Given the description of an element on the screen output the (x, y) to click on. 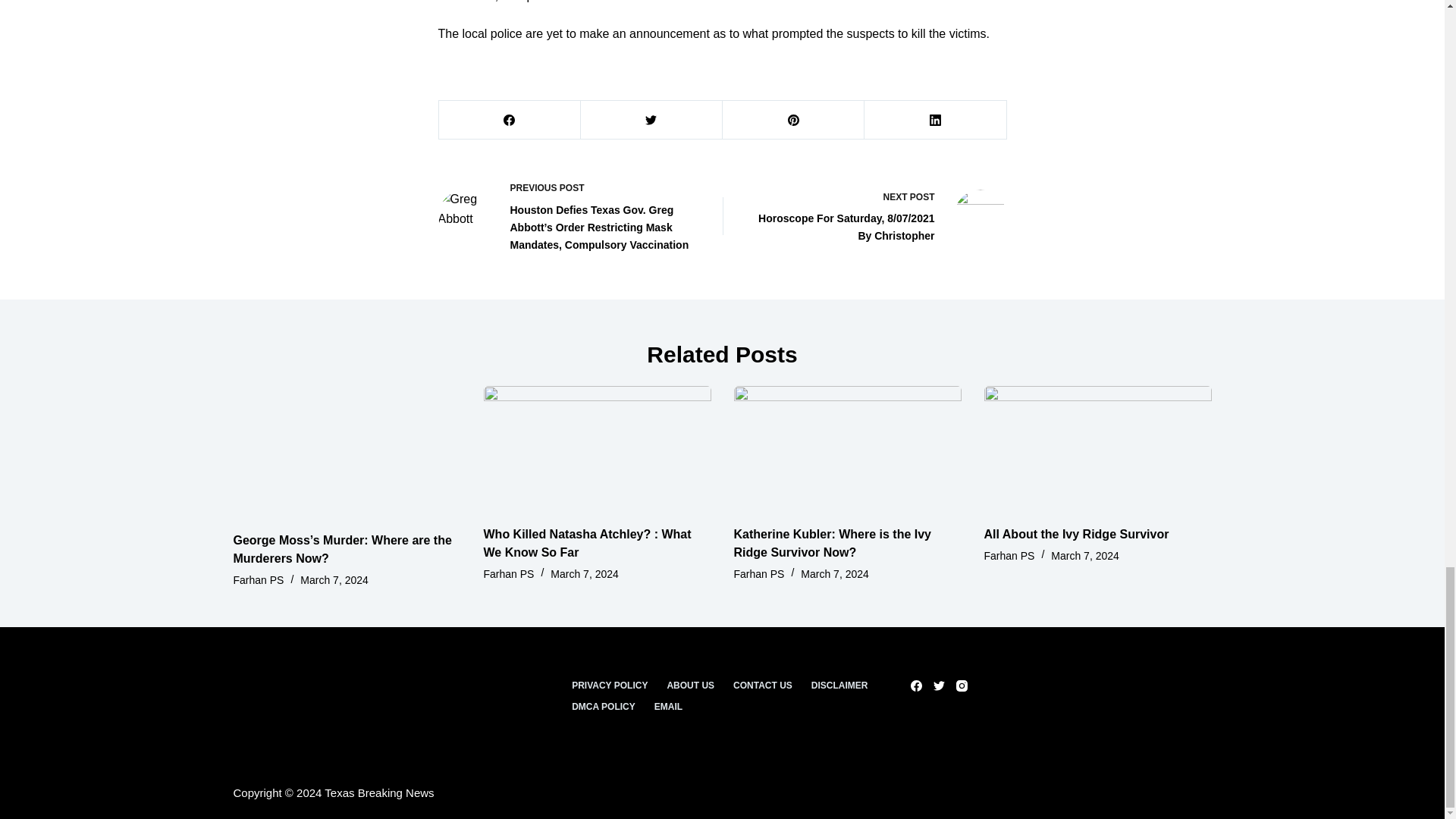
Farhan PS (257, 580)
Posts by Farhan PS (758, 573)
Posts by Farhan PS (508, 573)
Posts by Farhan PS (257, 580)
Who Killed Natasha Atchley? : What We Know So Far (587, 542)
Posts by Farhan PS (1009, 555)
